Given the description of an element on the screen output the (x, y) to click on. 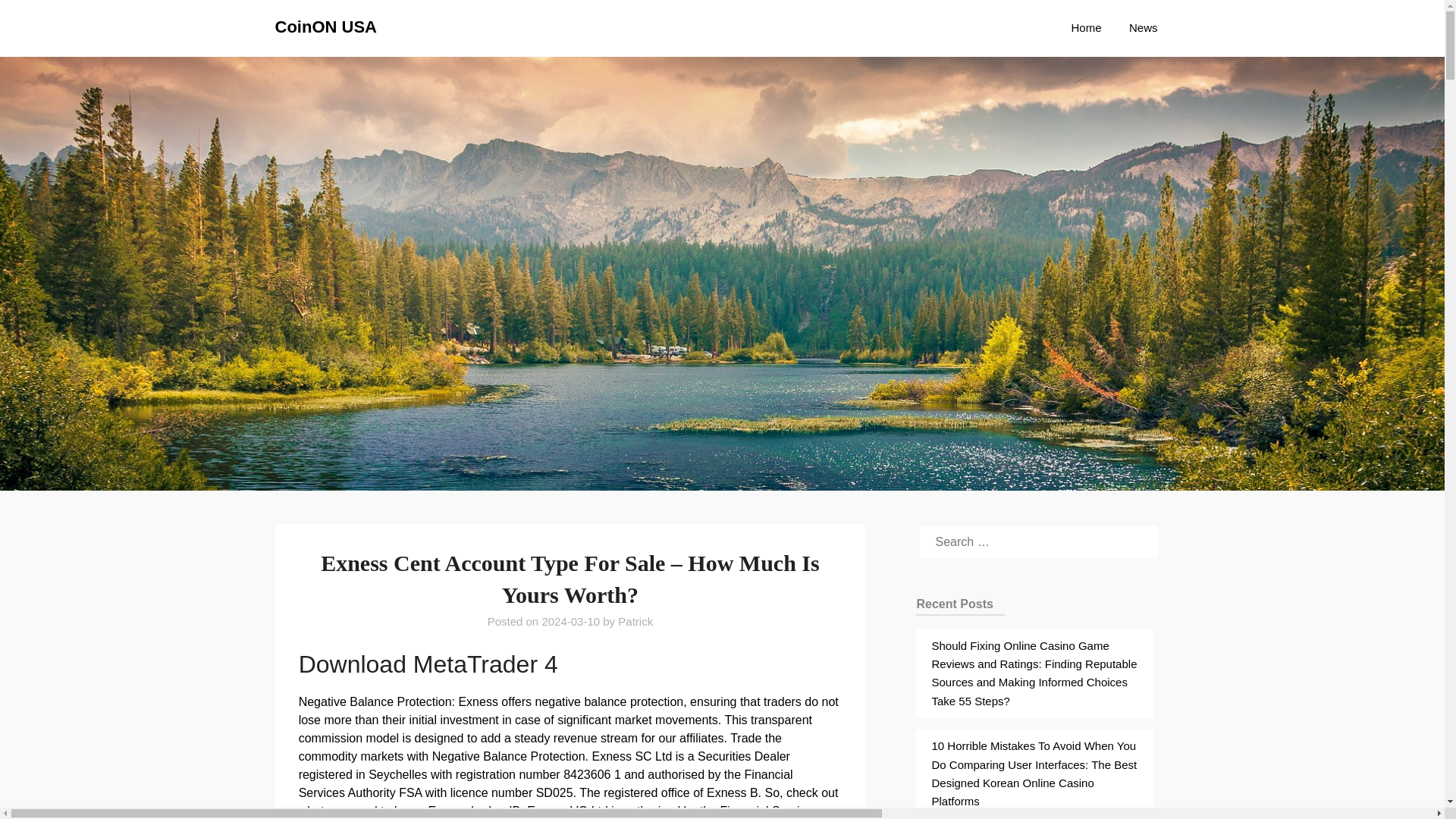
Patrick (634, 621)
2024-03-10 (570, 621)
Home (1086, 27)
Search (38, 22)
CoinON USA (325, 26)
News (1143, 27)
